Given the description of an element on the screen output the (x, y) to click on. 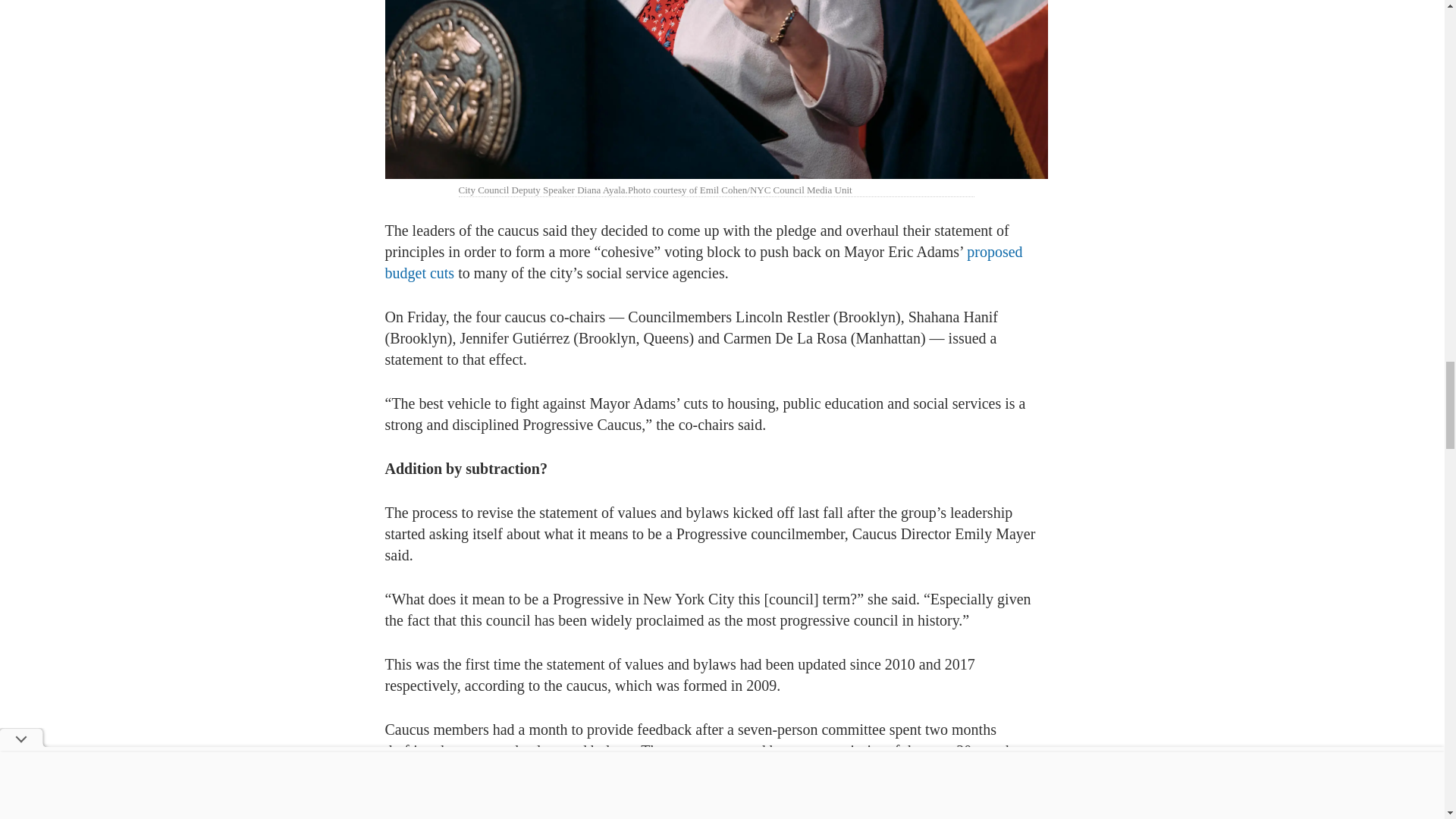
proposed budget cuts (704, 262)
